Given the description of an element on the screen output the (x, y) to click on. 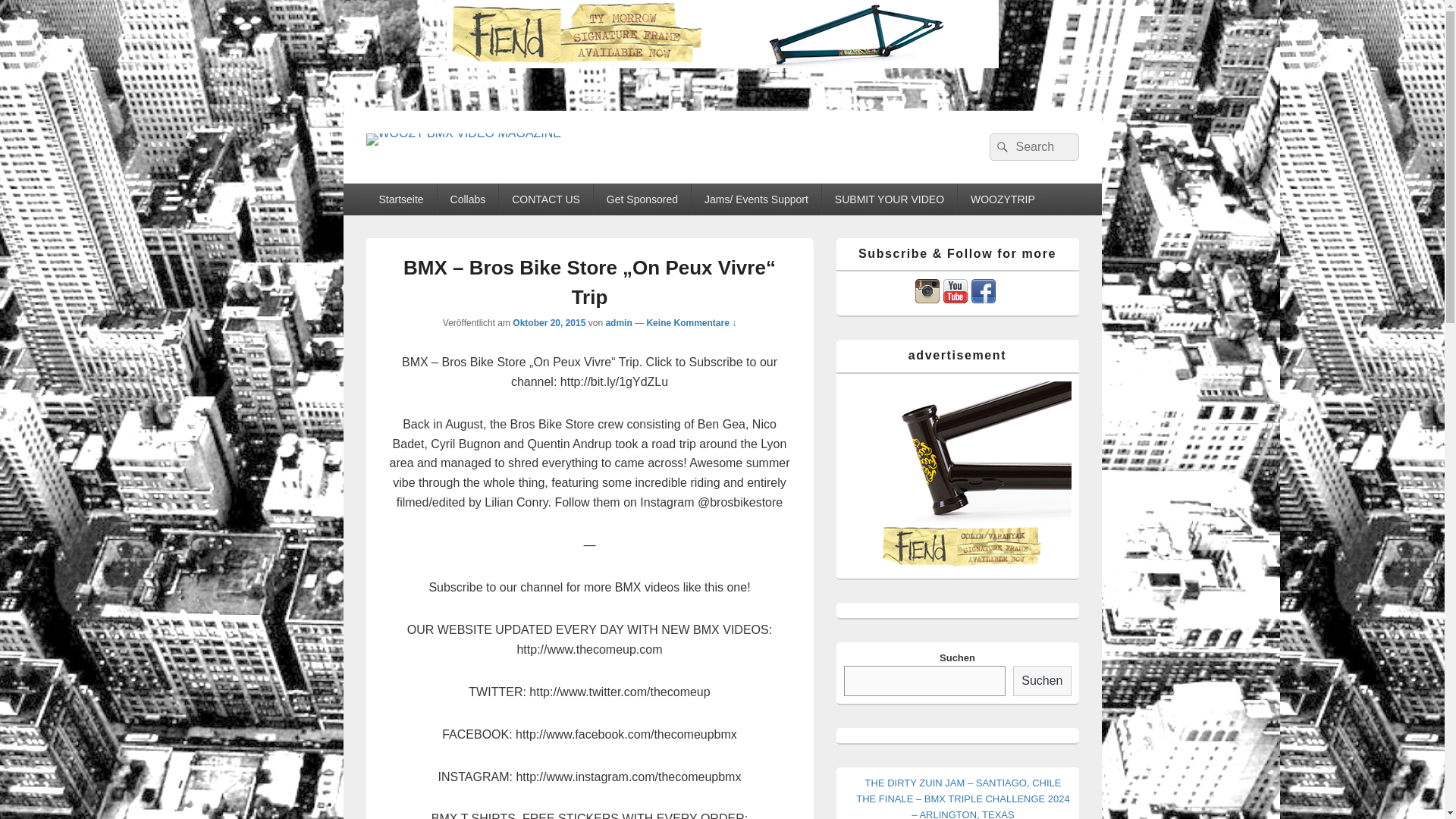
Connect on Facebook (983, 299)
admin (618, 322)
Startseite (400, 199)
SUBMIT YOUR VIDEO (889, 199)
Get Sponsored (642, 199)
Oktober 20, 2015 (548, 322)
CONTACT US (545, 199)
YouTube Channel (955, 299)
www.sibmx.de (721, 33)
Suchen (1041, 680)
8:23 am (548, 322)
woozybmx on Instagram (927, 299)
sibmx.de (956, 475)
Suche (999, 146)
WOOZYTRIP (1003, 199)
